Given the description of an element on the screen output the (x, y) to click on. 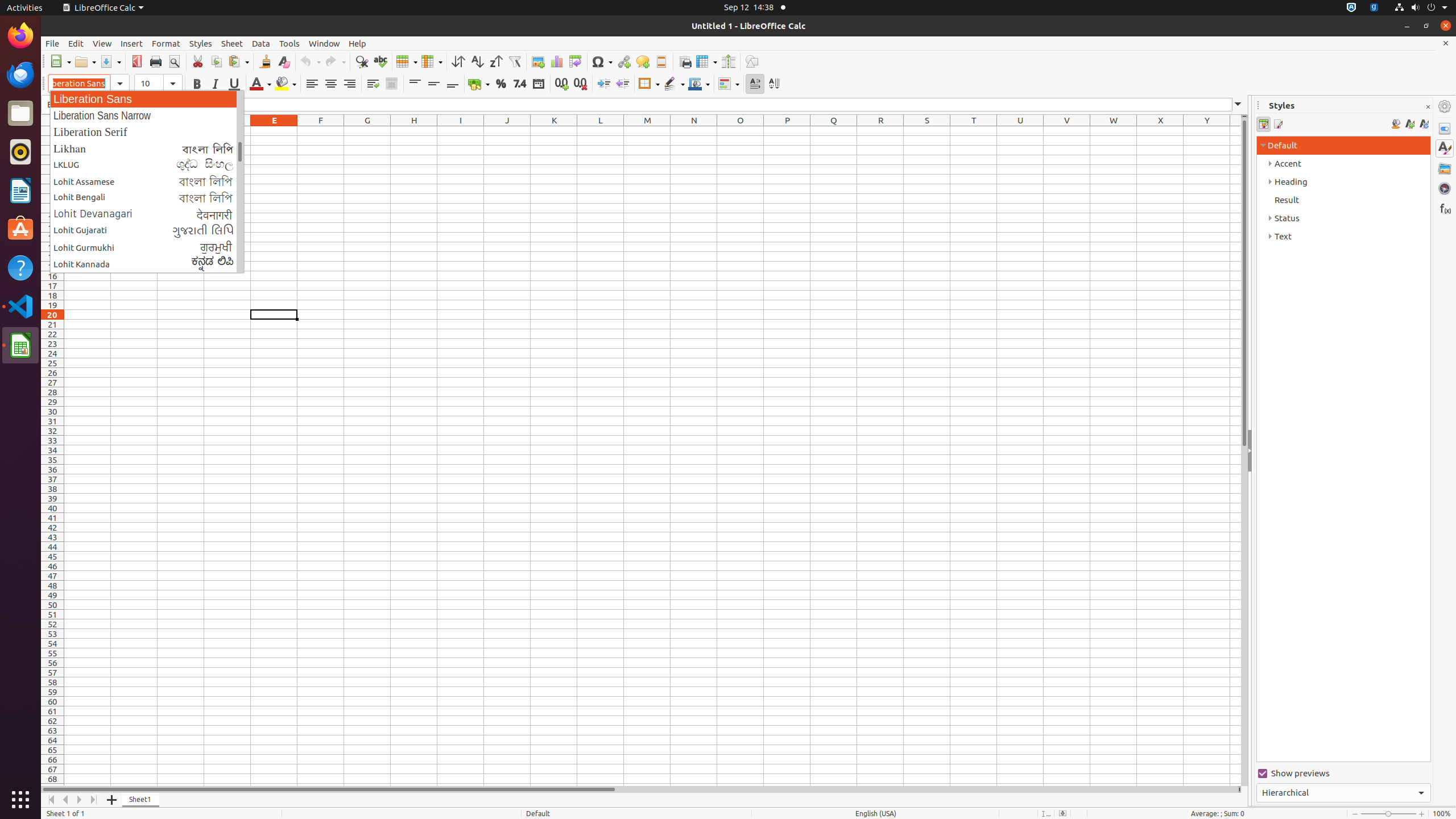
Lohit Bengali Element type: list-item (146, 197)
Borders (Shift to overwrite) Element type: push-button (648, 83)
K1 Element type: table-cell (553, 130)
Align Bottom Element type: push-button (452, 83)
Cut Element type: push-button (197, 61)
